Given the description of an element on the screen output the (x, y) to click on. 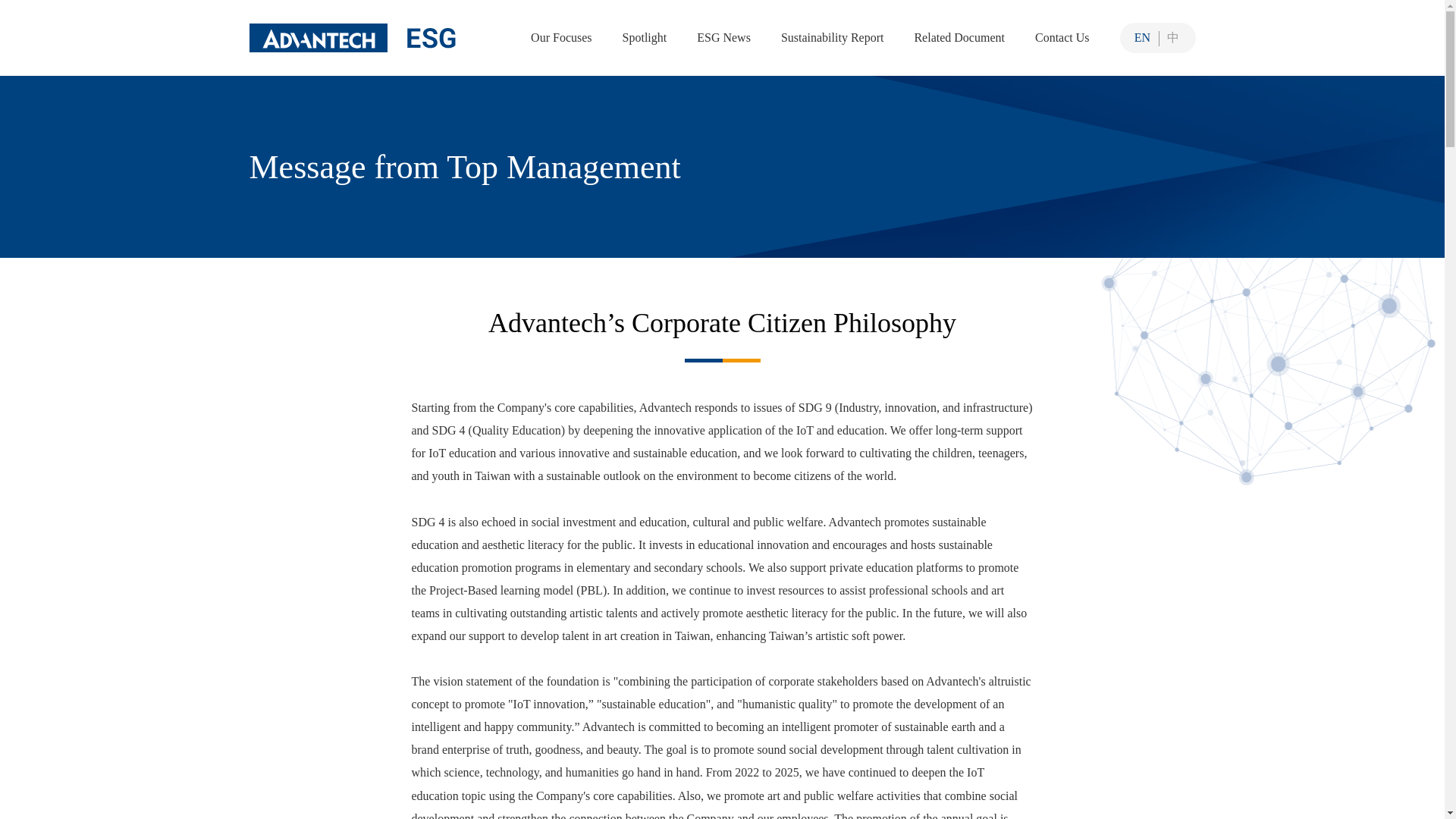
Contact Us (1062, 37)
Spotlight (644, 37)
EN (1141, 37)
Our Focuses (561, 37)
Sustainability Report (831, 37)
Related Document (959, 37)
ESG News (724, 37)
